Given the description of an element on the screen output the (x, y) to click on. 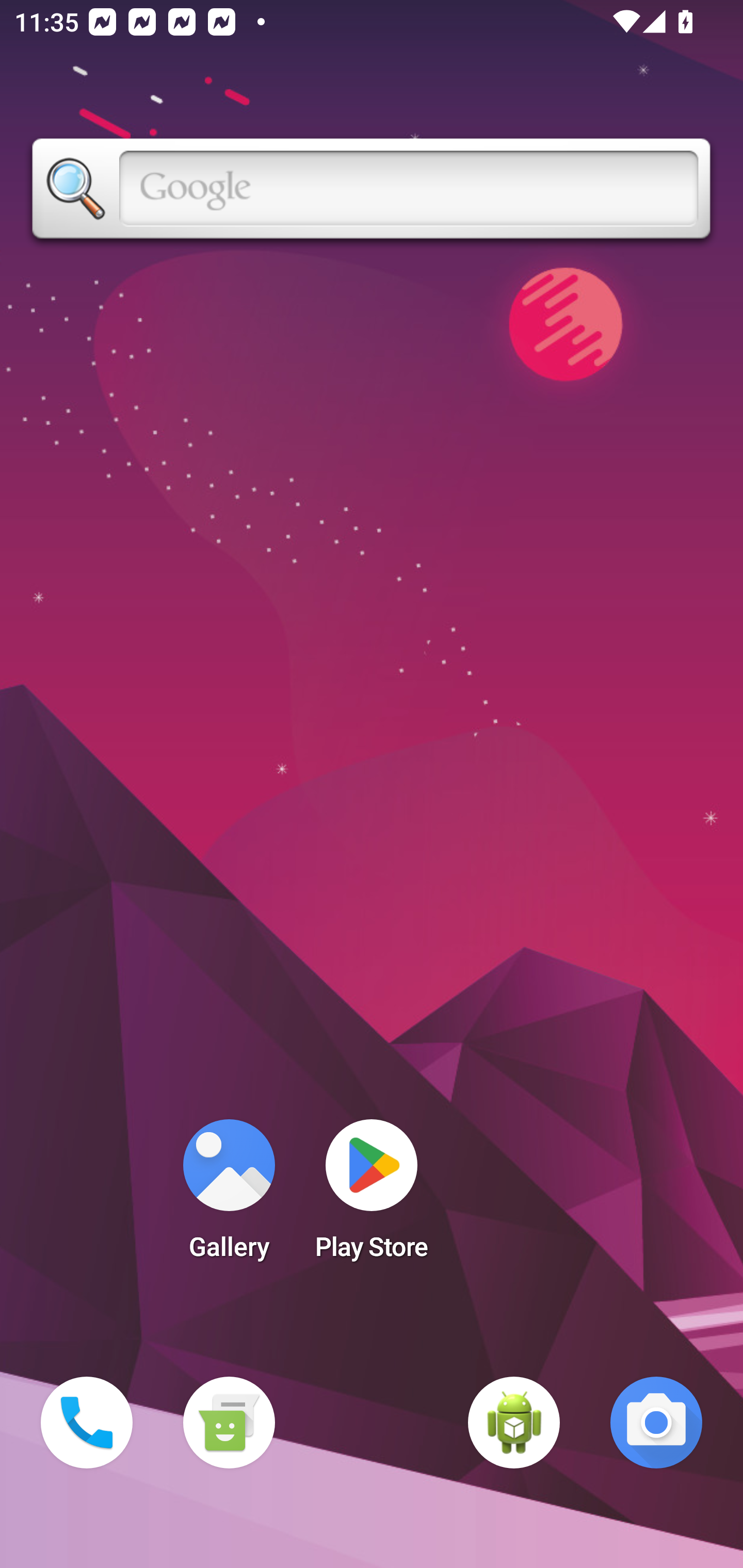
Gallery (228, 1195)
Play Store (371, 1195)
Phone (86, 1422)
Messaging (228, 1422)
WebView Browser Tester (513, 1422)
Camera (656, 1422)
